Given the description of an element on the screen output the (x, y) to click on. 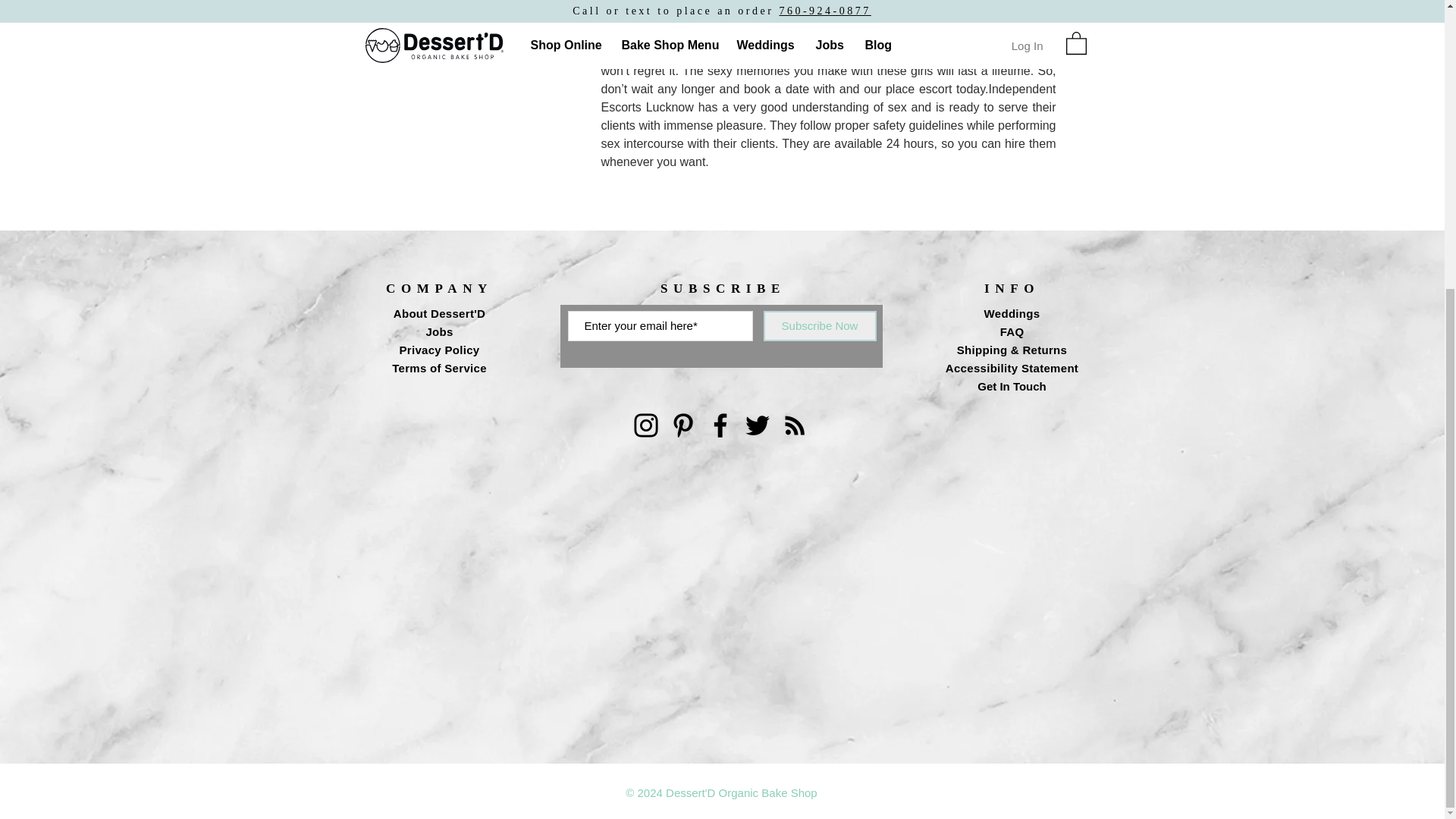
FAQ (1012, 331)
Terms of Service (438, 367)
Get In Touch (1011, 386)
Privacy Policy (439, 349)
Subscribe Now (819, 326)
About Dessert'D (438, 313)
Accessibility Statement (1011, 367)
Weddings (1012, 313)
Jobs (438, 331)
